Given the description of an element on the screen output the (x, y) to click on. 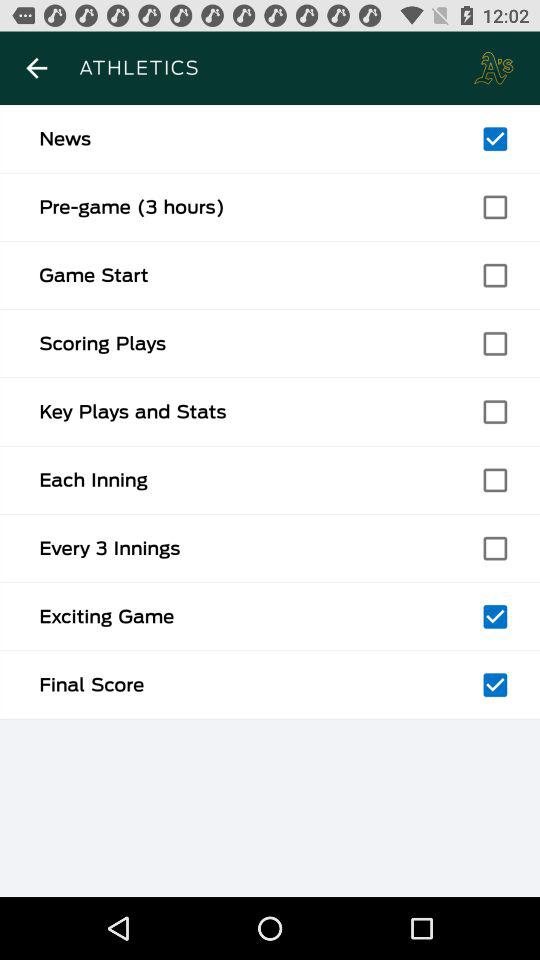
select option (495, 207)
